Given the description of an element on the screen output the (x, y) to click on. 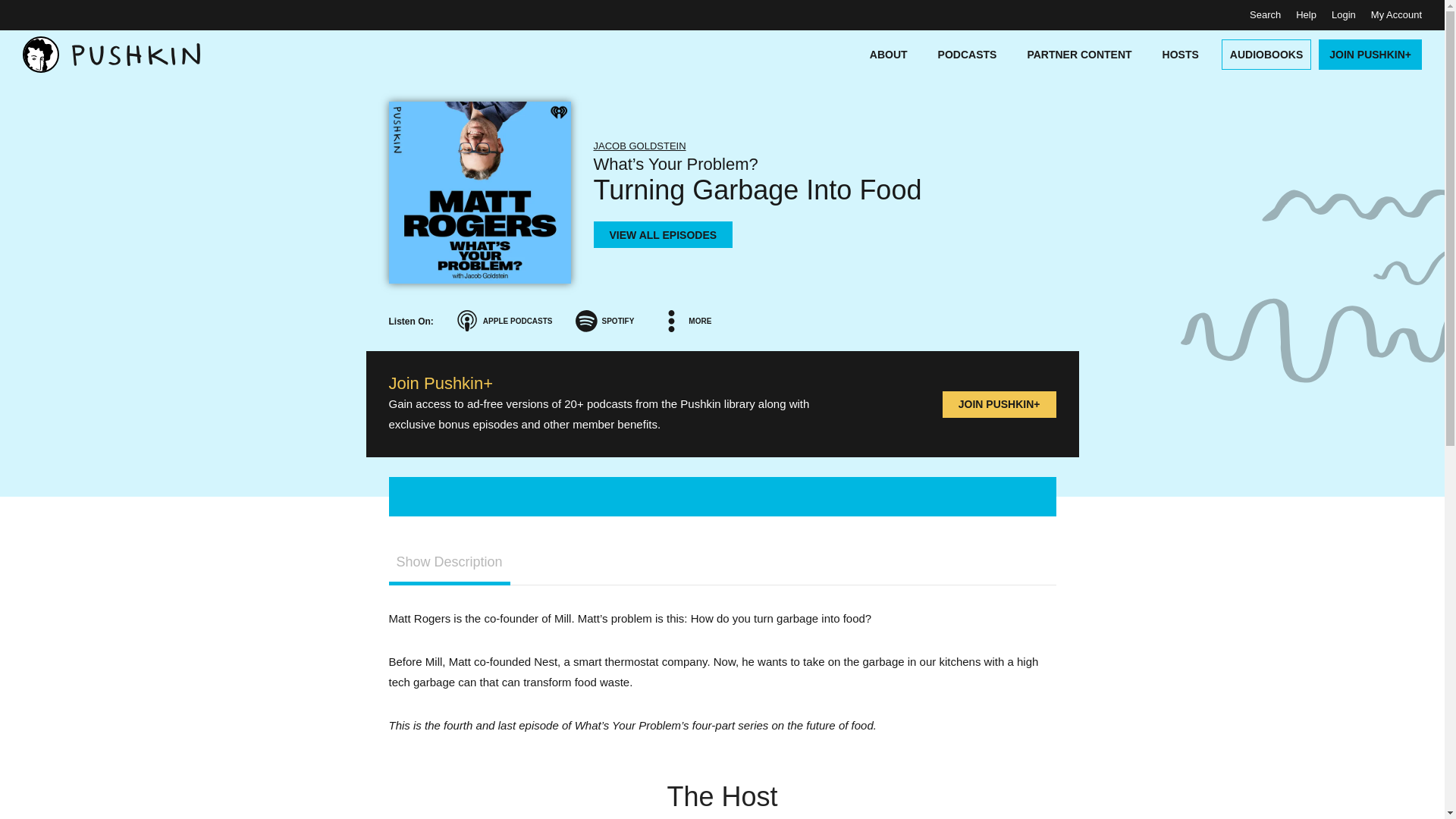
MORE (686, 320)
Show Description (448, 563)
VIEW ALL EPISODES (662, 234)
ABOUT (888, 54)
AUDIOBOOKS (1262, 54)
JACOB GOLDSTEIN (638, 145)
PODCASTS (967, 54)
PARTNER CONTENT (1079, 54)
HOSTS (1180, 54)
